Given the description of an element on the screen output the (x, y) to click on. 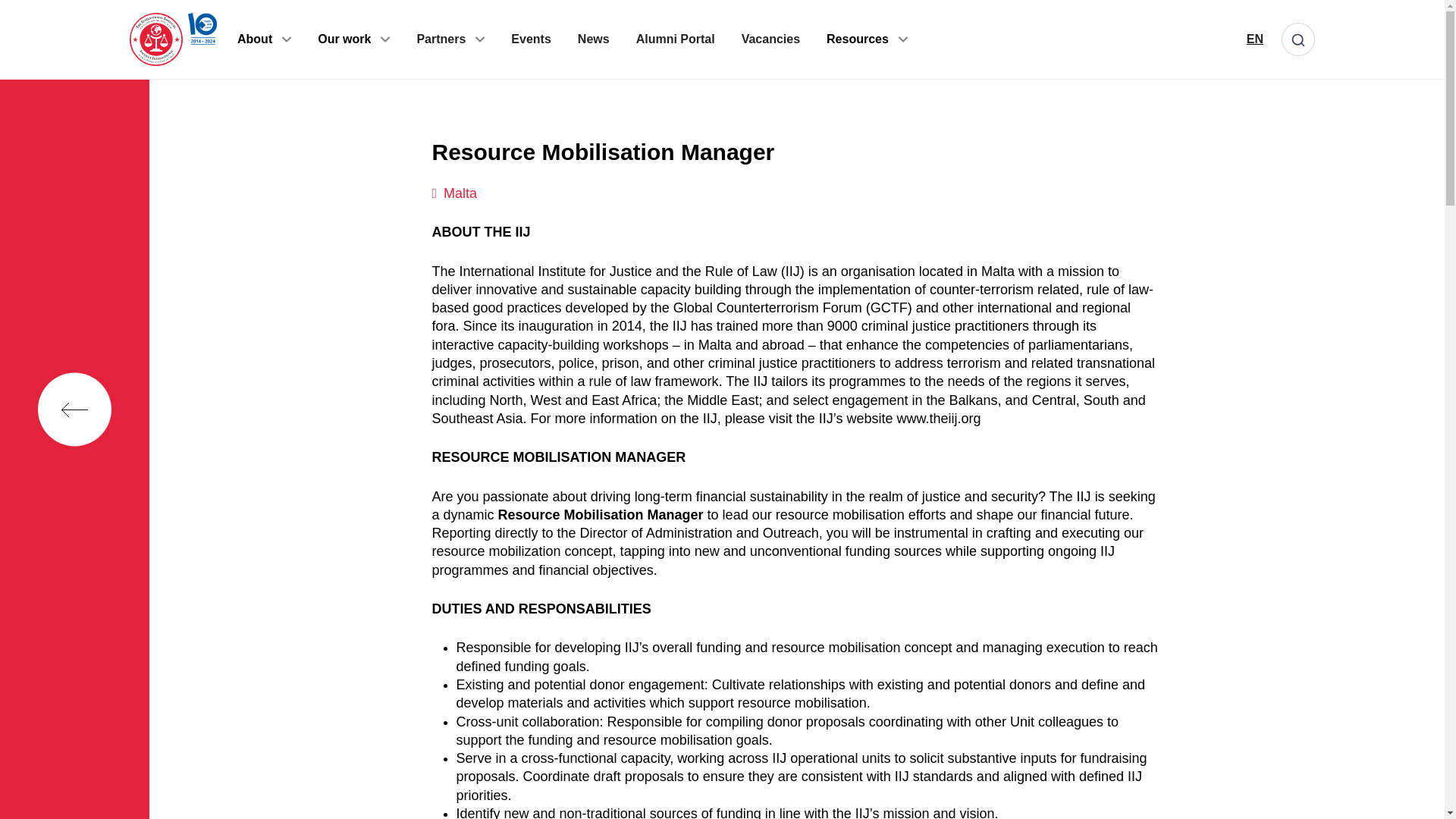
Events (530, 39)
Alumni Portal (675, 39)
Partners (440, 39)
Vacancies (770, 39)
News (594, 39)
EN (1254, 39)
EN (1254, 39)
